Given the description of an element on the screen output the (x, y) to click on. 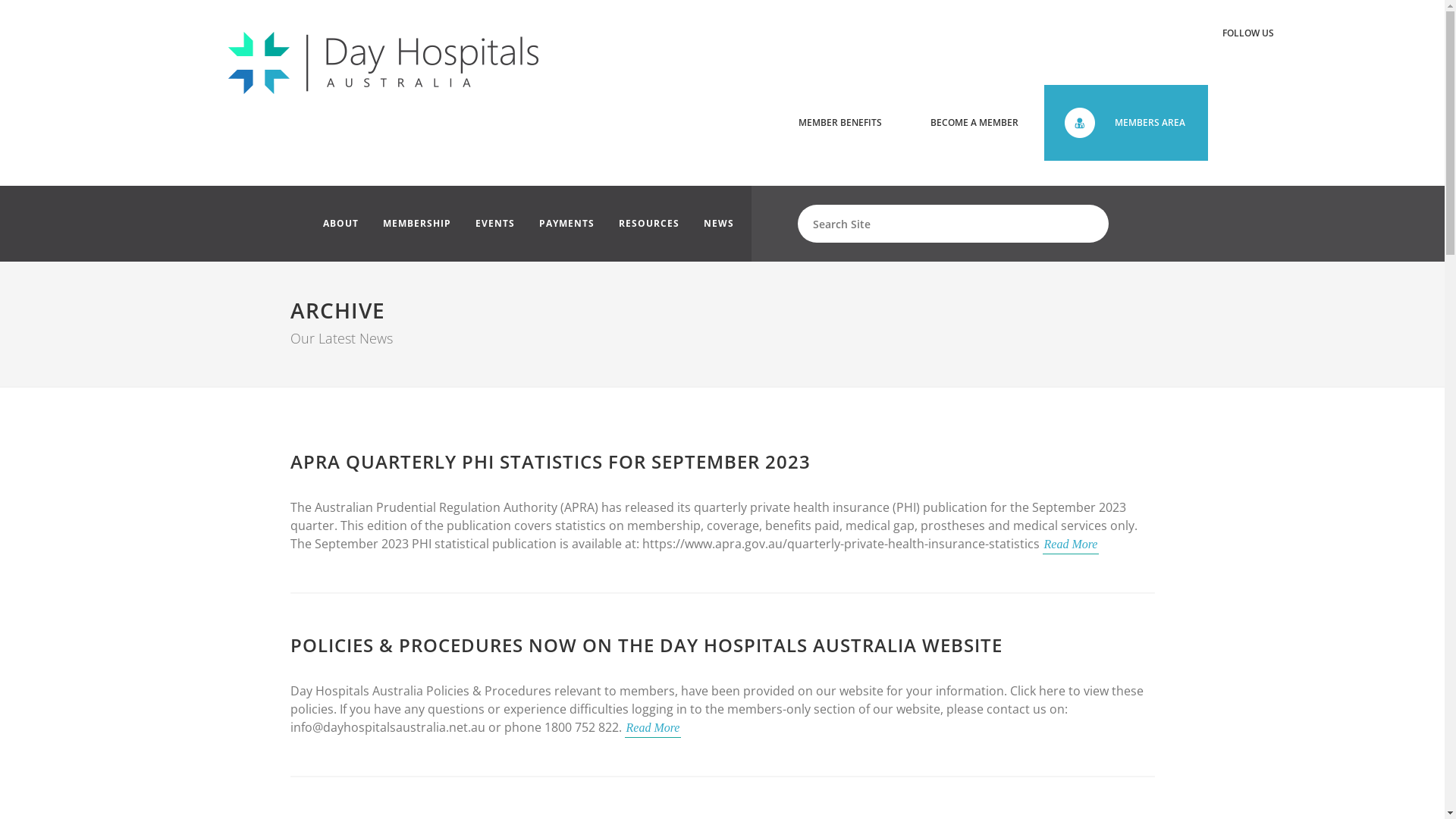
FOLLOW US Element type: text (1247, 32)
MEMBER BENEFITS Element type: text (839, 122)
PAYMENTS Element type: text (566, 223)
EVENTS Element type: text (495, 223)
ABOUT Element type: text (339, 223)
BECOME A MEMBER Element type: text (973, 122)
RESOURCES Element type: text (648, 223)
NEWS Element type: text (717, 223)
APRA QUARTERLY PHI STATISTICS FOR SEPTEMBER 2023 Element type: text (549, 460)
MEMBERSHIP Element type: text (416, 223)
Read More Element type: text (652, 727)
MEMBERS AREA Element type: text (1125, 122)
Read More Element type: text (1069, 544)
